Given the description of an element on the screen output the (x, y) to click on. 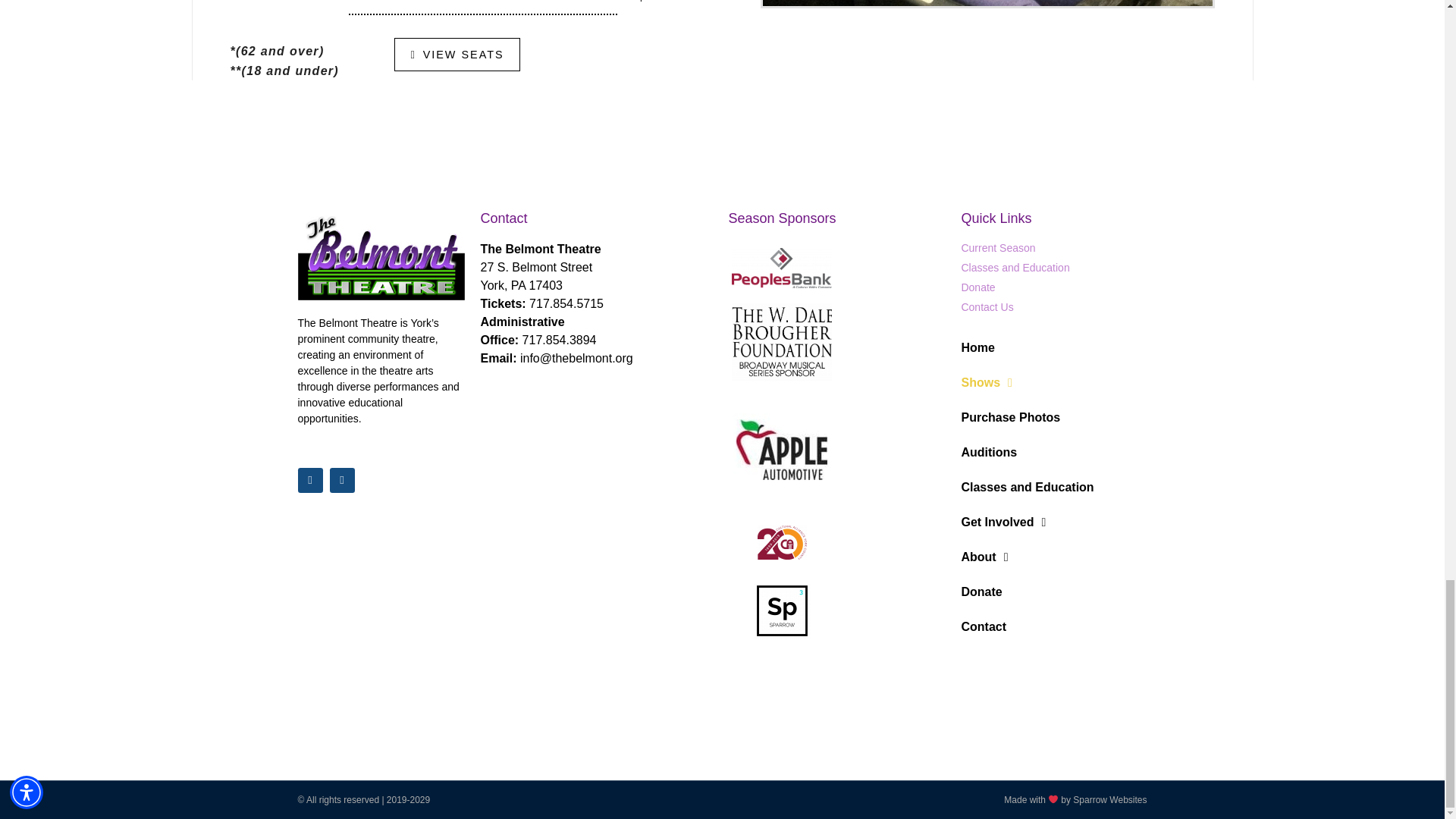
CAYC-20th Anniversary Logo Transparent (781, 542)
sparrow-websites-logo (782, 610)
W.Dale Brougher (781, 342)
Seats (987, 2)
